Given the description of an element on the screen output the (x, y) to click on. 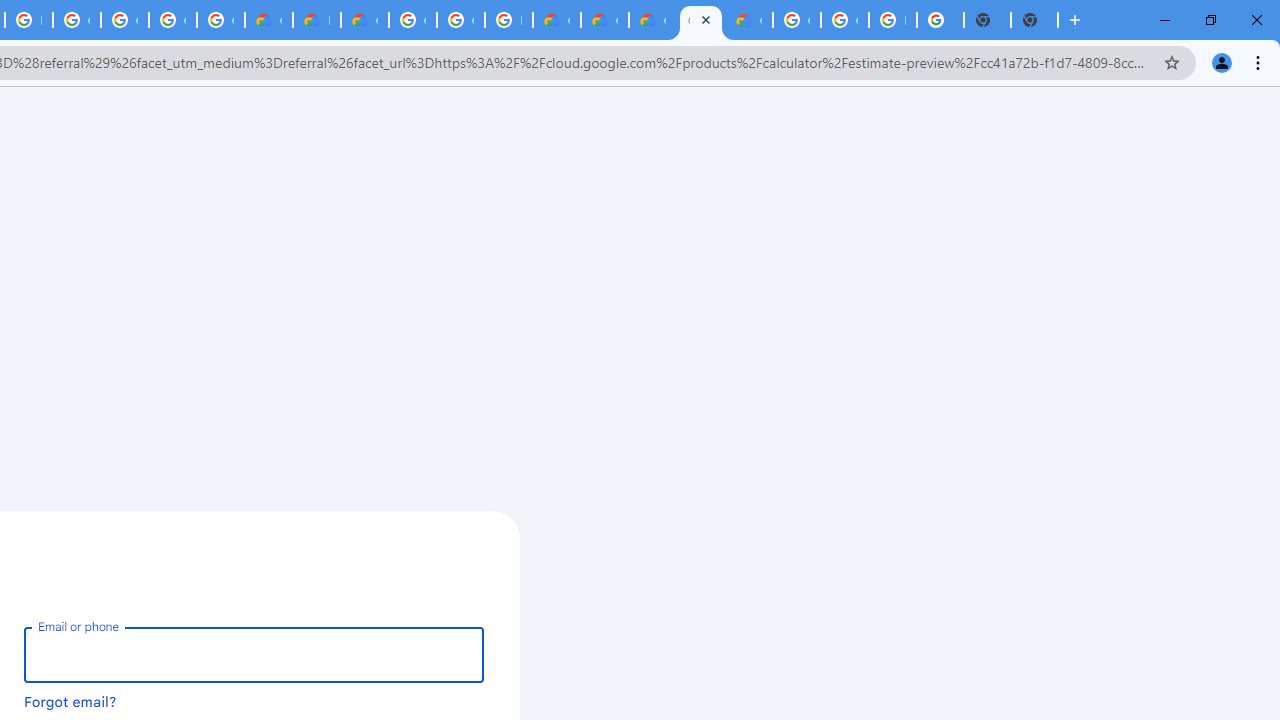
Google Cloud Platform (700, 20)
Google Cloud Service Health (748, 20)
Google Cloud Platform (412, 20)
Gemini for Business and Developers | Google Cloud (364, 20)
Google Cloud Estimate Summary (652, 20)
Google Cloud Pricing Calculator (604, 20)
Customer Care | Google Cloud (268, 20)
Email or phone (253, 654)
